Given the description of an element on the screen output the (x, y) to click on. 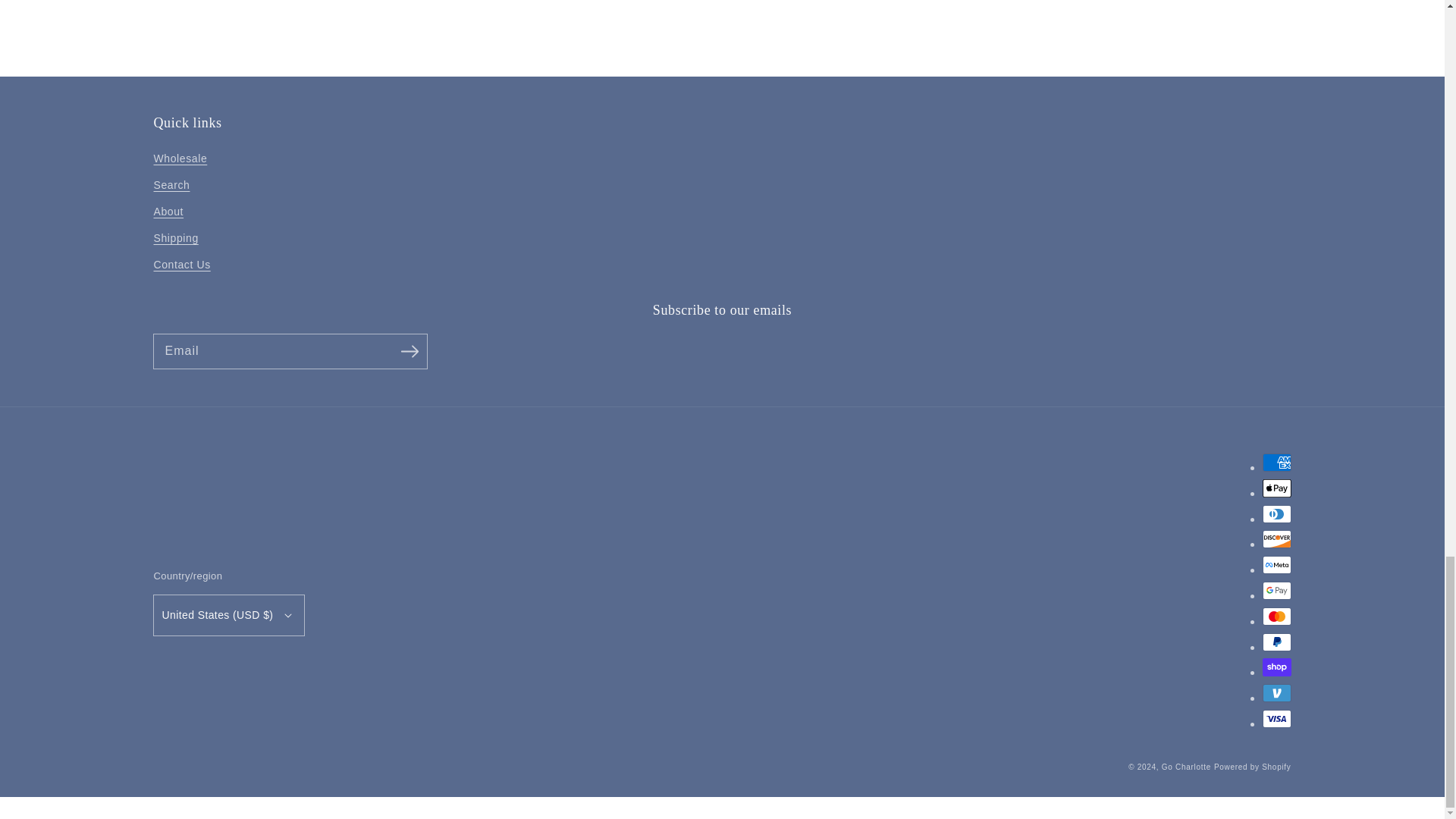
PayPal (1276, 642)
Google Pay (1276, 590)
Shop Pay (1276, 667)
Discover (1276, 538)
Mastercard (1276, 616)
American Express (1276, 462)
Apple Pay (1276, 488)
Meta Pay (1276, 565)
Diners Club (1276, 514)
Venmo (1276, 692)
Visa (1276, 719)
